Given the description of an element on the screen output the (x, y) to click on. 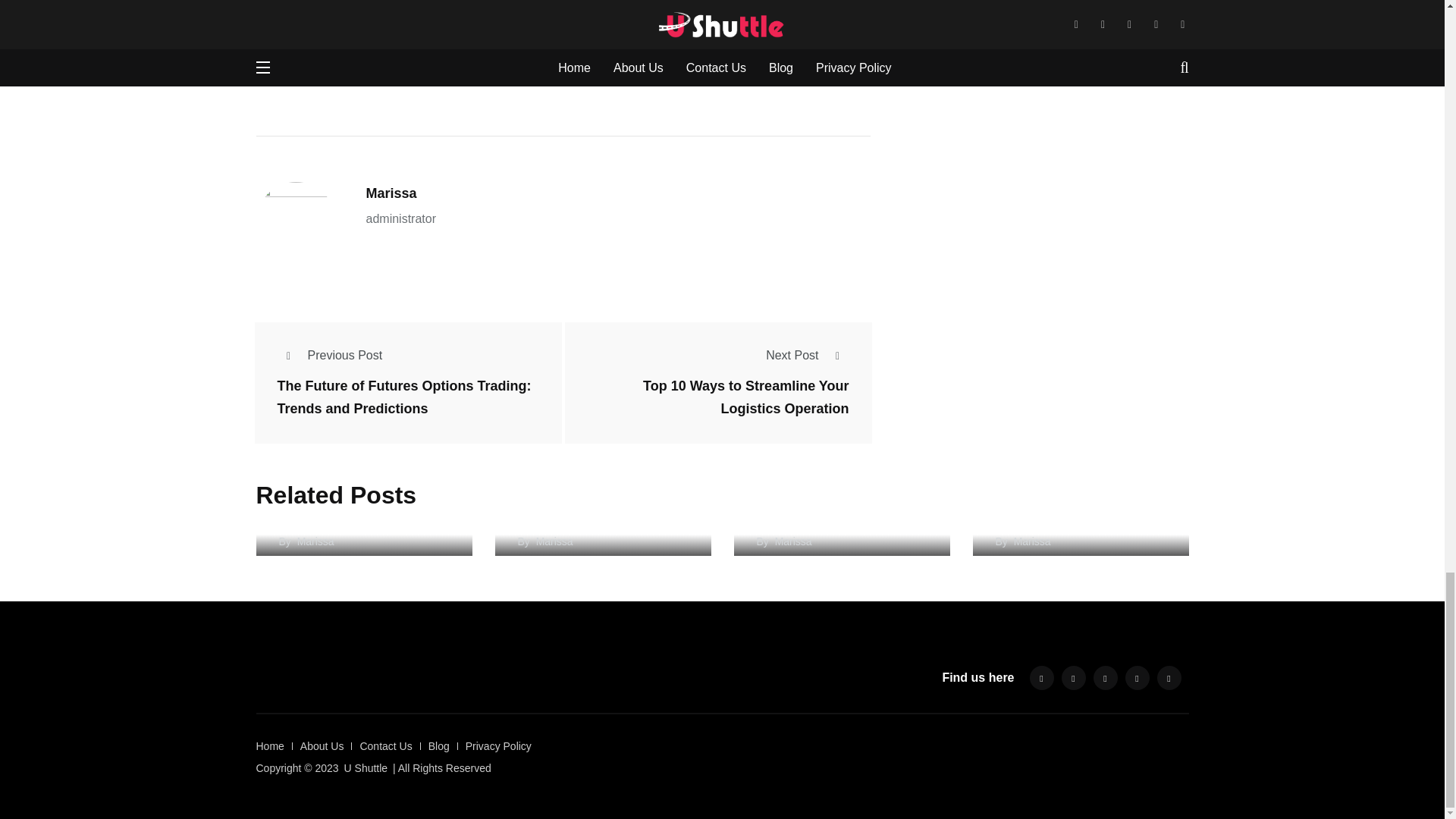
Next Post (806, 354)
Posts by Marissa (315, 541)
Marissa (390, 192)
Top 10 Ways to Streamline Your Logistics Operation (745, 397)
How to Experience Vietnam Like a Local (363, 544)
GO BACK TO HOME (320, 77)
Previous Post (330, 354)
Posts by Marissa (390, 192)
